Given the description of an element on the screen output the (x, y) to click on. 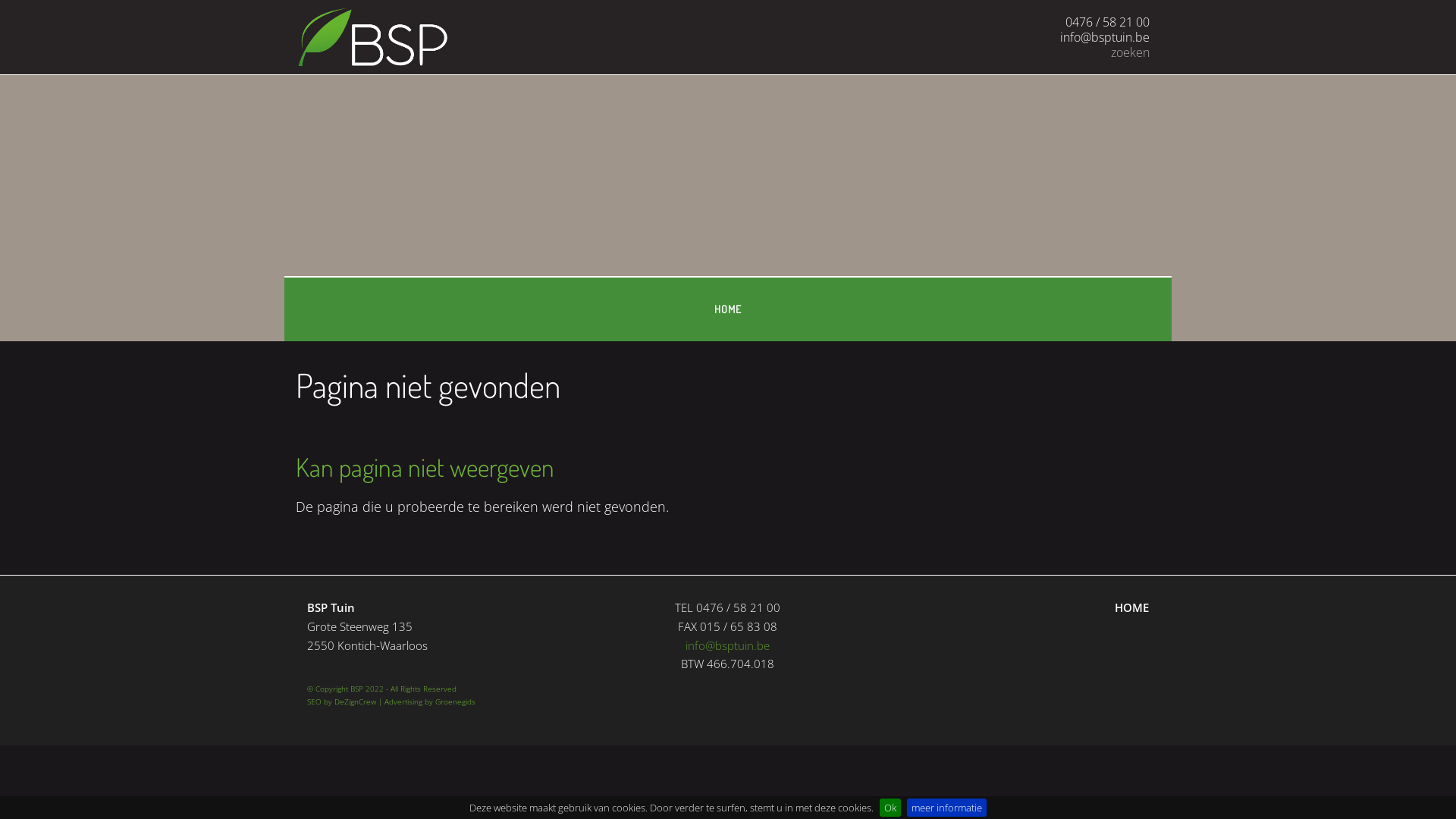
info@bsptuin.be Element type: text (727, 644)
Advertising by Groenegids Element type: text (429, 701)
Verzenden Element type: text (1160, 52)
info@bsptuin.be Element type: text (1104, 36)
HOME Element type: text (1131, 607)
meer informatie Element type: text (946, 807)
Ok Element type: text (889, 807)
SEO by DeZignCrew Element type: text (341, 701)
HOME Element type: text (727, 309)
